Given the description of an element on the screen output the (x, y) to click on. 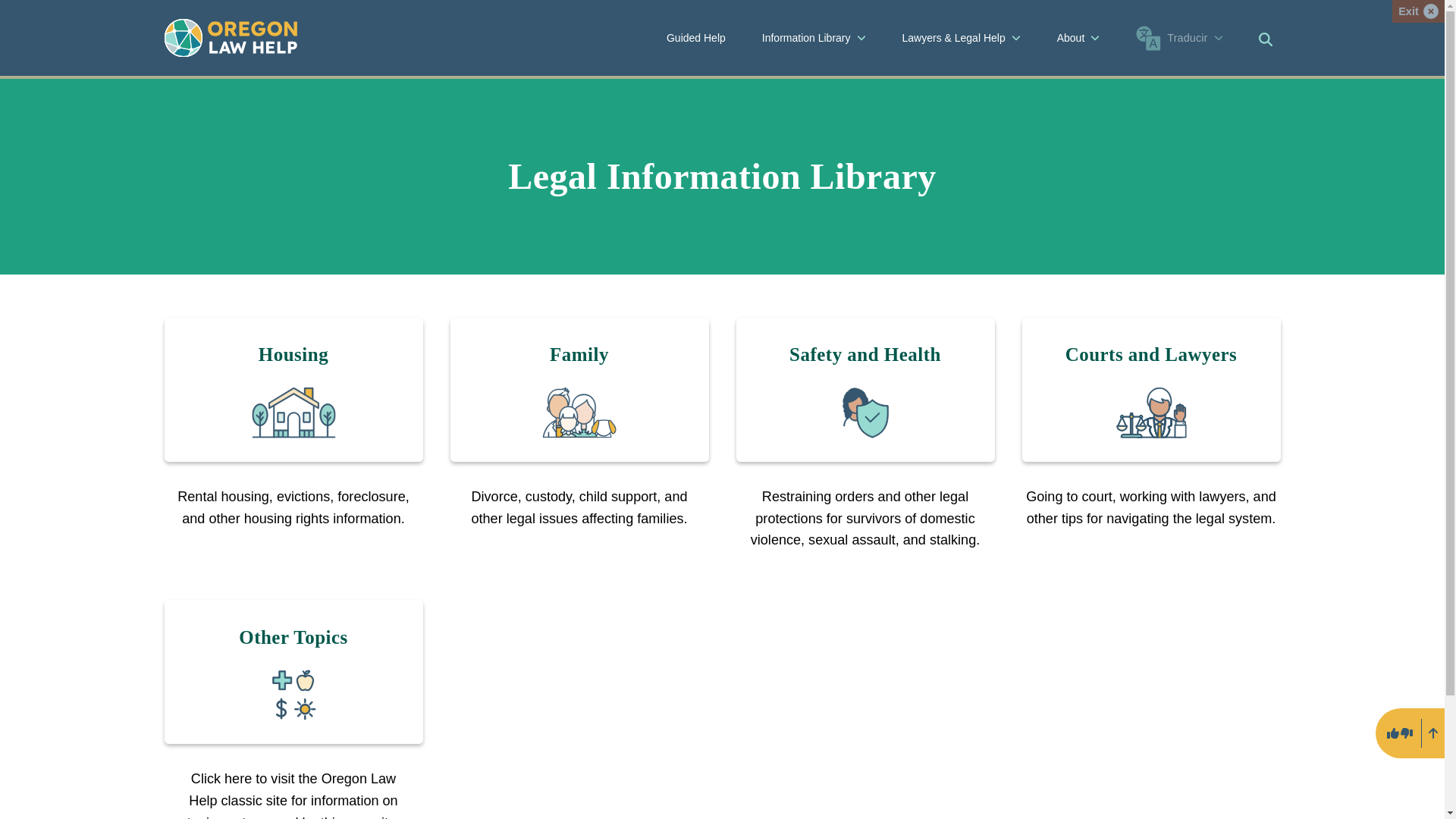
Traducir (1178, 37)
Oregon Law Help (230, 37)
Information Library (813, 37)
About (1078, 37)
About (1078, 38)
Guided Help (696, 38)
Information Library (813, 38)
